Given the description of an element on the screen output the (x, y) to click on. 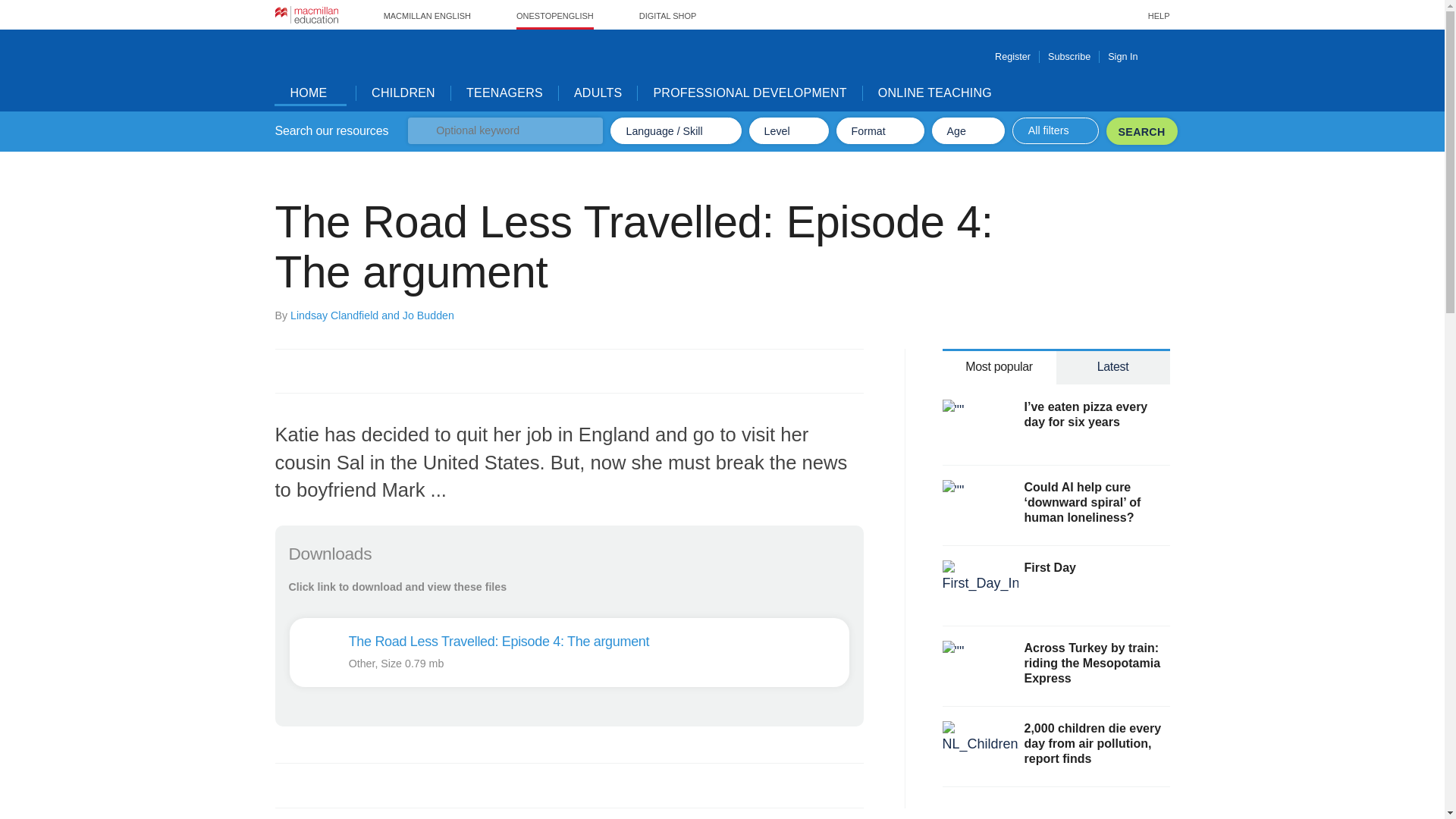
No comments (812, 378)
Site name (322, 65)
Subscribe (1069, 56)
Share this on Facebook (288, 784)
MACMILLAN ENGLISH (427, 15)
DIGITAL SHOP (668, 15)
Share this on Linked in (352, 784)
No comments (812, 793)
Sign In (1138, 56)
Email this article (386, 784)
